Given the description of an element on the screen output the (x, y) to click on. 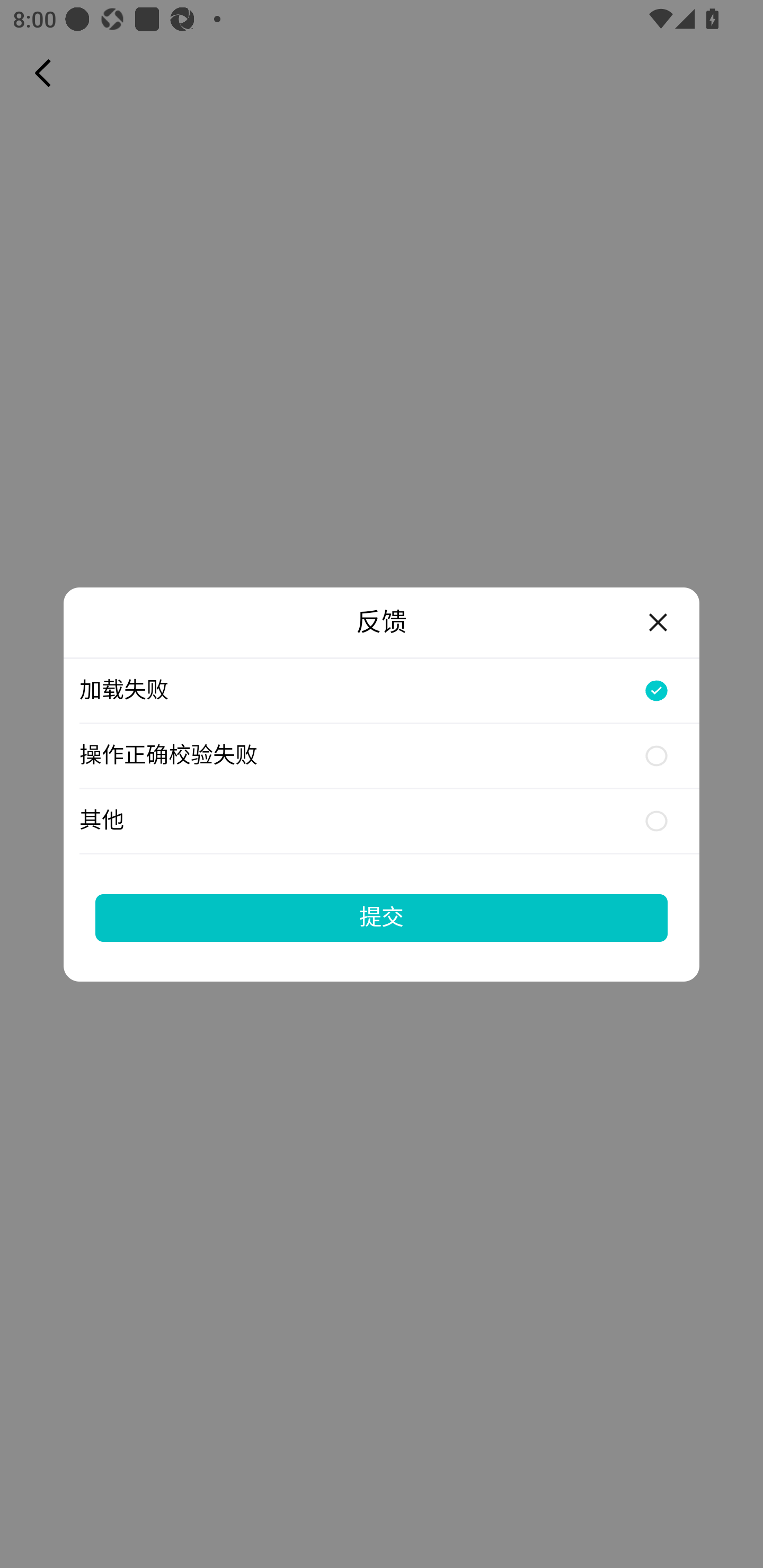
提交 (381, 917)
